Given the description of an element on the screen output the (x, y) to click on. 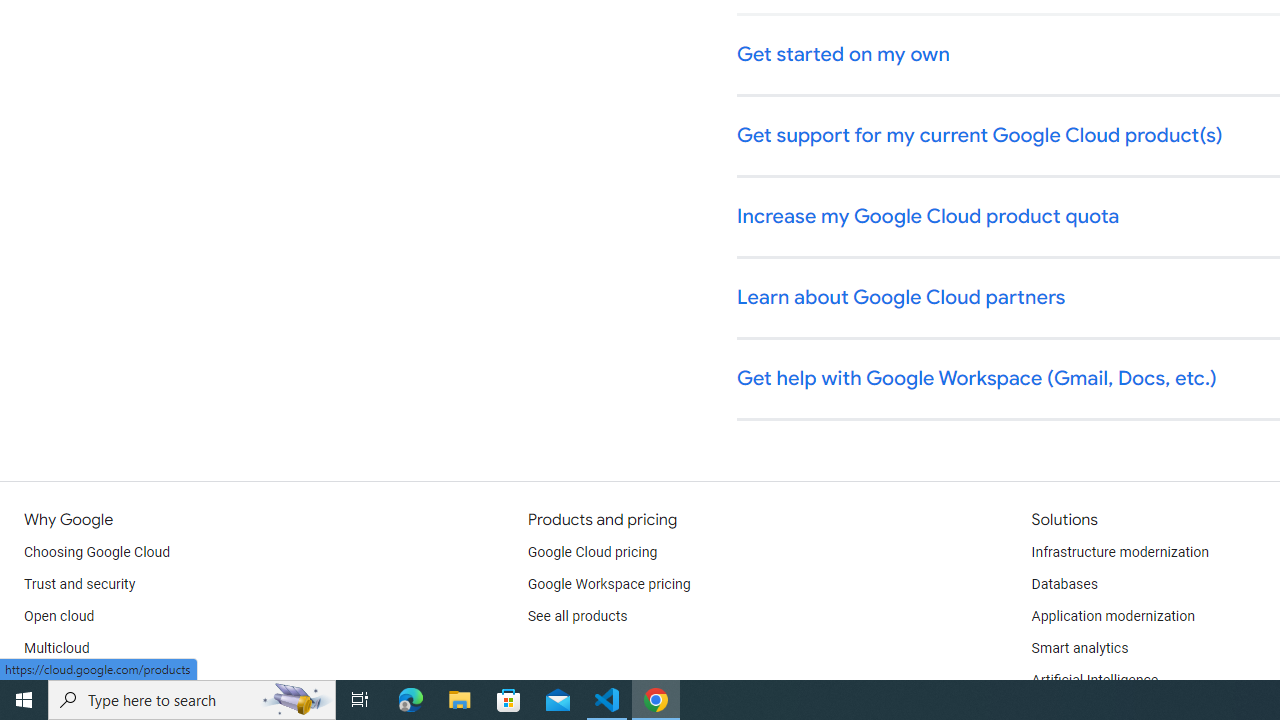
Multicloud (56, 648)
Global infrastructure (88, 680)
Application modernization (1112, 616)
Google Workspace pricing (609, 584)
Artificial Intelligence (1094, 680)
Smart analytics (1079, 648)
Open cloud (59, 616)
See all products (577, 616)
Google Cloud pricing (592, 552)
Databases (1064, 584)
Trust and security (79, 584)
Choosing Google Cloud (97, 552)
Infrastructure modernization (1119, 552)
